Given the description of an element on the screen output the (x, y) to click on. 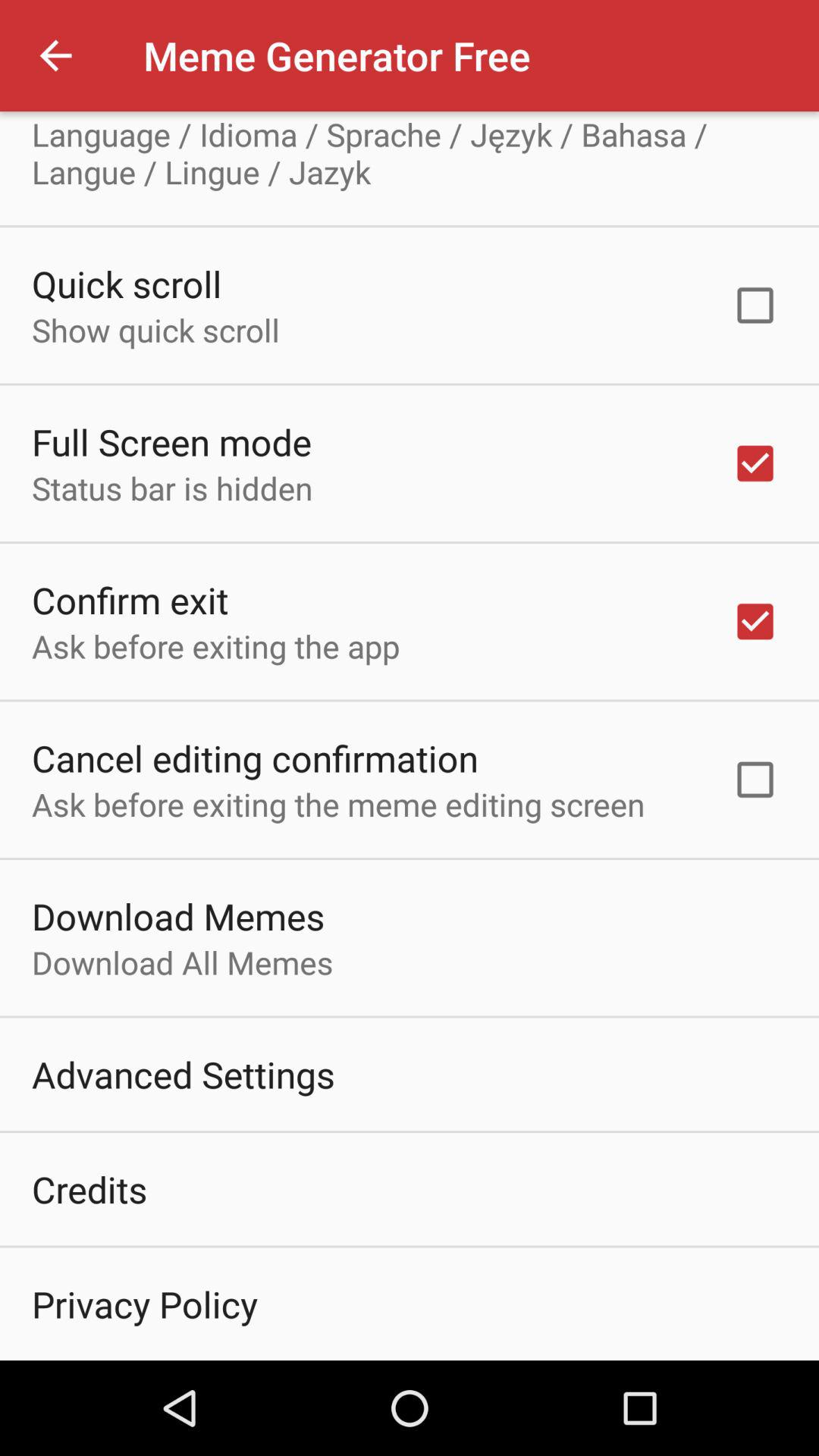
select item below full screen mode (171, 487)
